Given the description of an element on the screen output the (x, y) to click on. 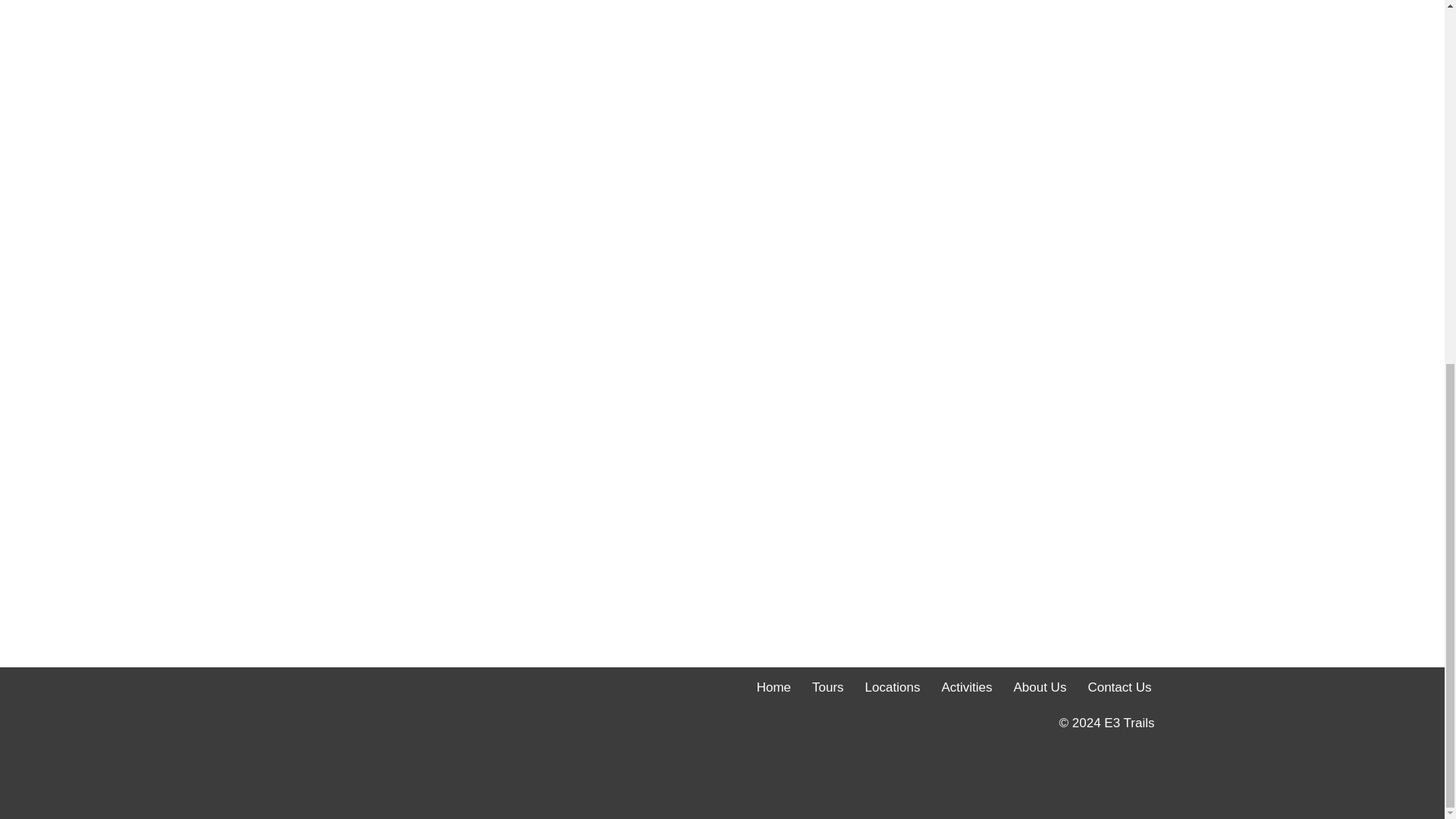
Tours (828, 686)
Locations (892, 686)
Home (773, 686)
Activities (965, 686)
About Us (1039, 686)
Contact Us (1119, 686)
